Given the description of an element on the screen output the (x, y) to click on. 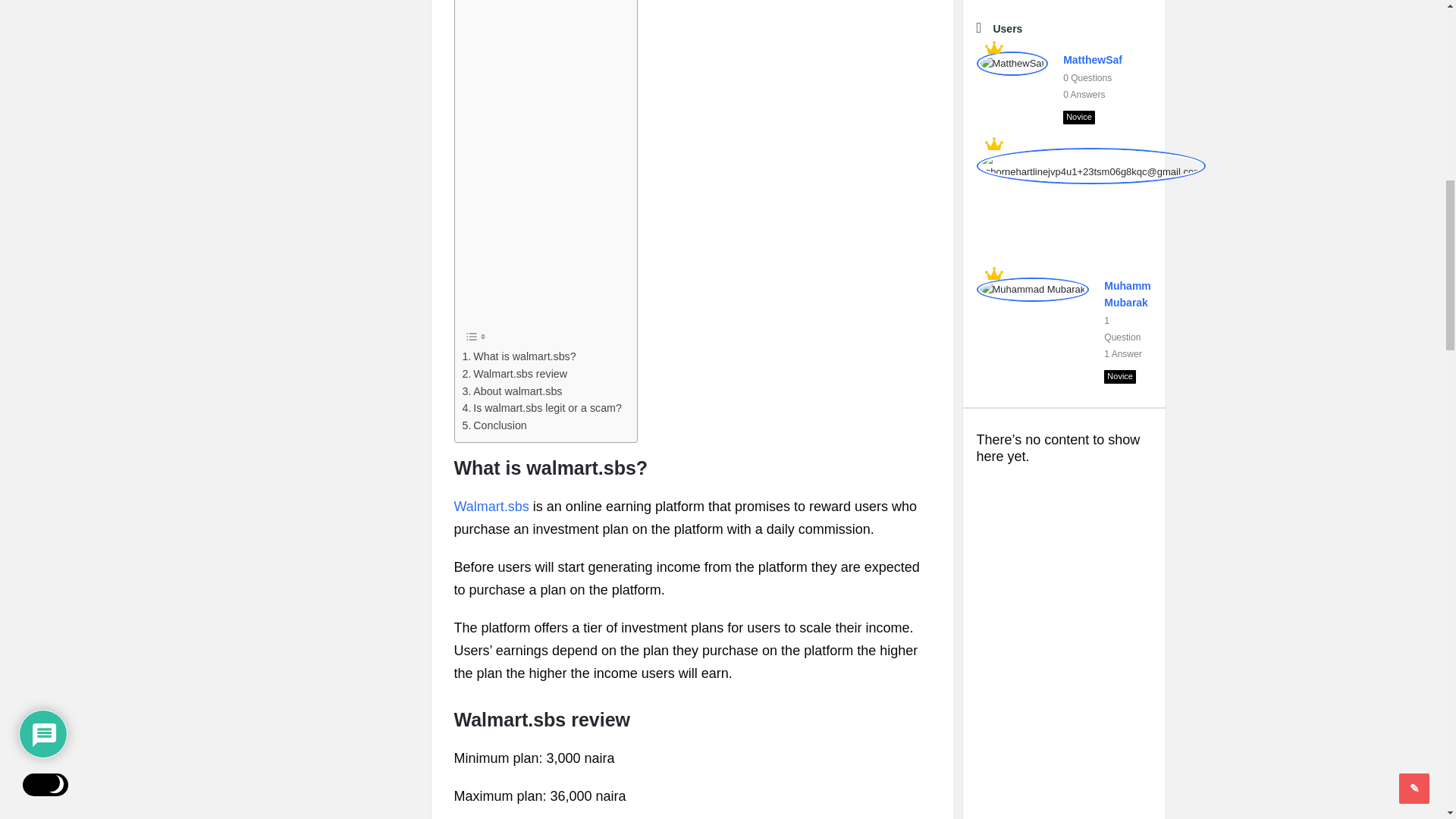
Walmart.sbs review (515, 374)
Is walmart.sbs legit or a scam? (542, 407)
About walmart.sbs (512, 391)
What is walmart.sbs? (519, 356)
Conclusion (495, 425)
